Given the description of an element on the screen output the (x, y) to click on. 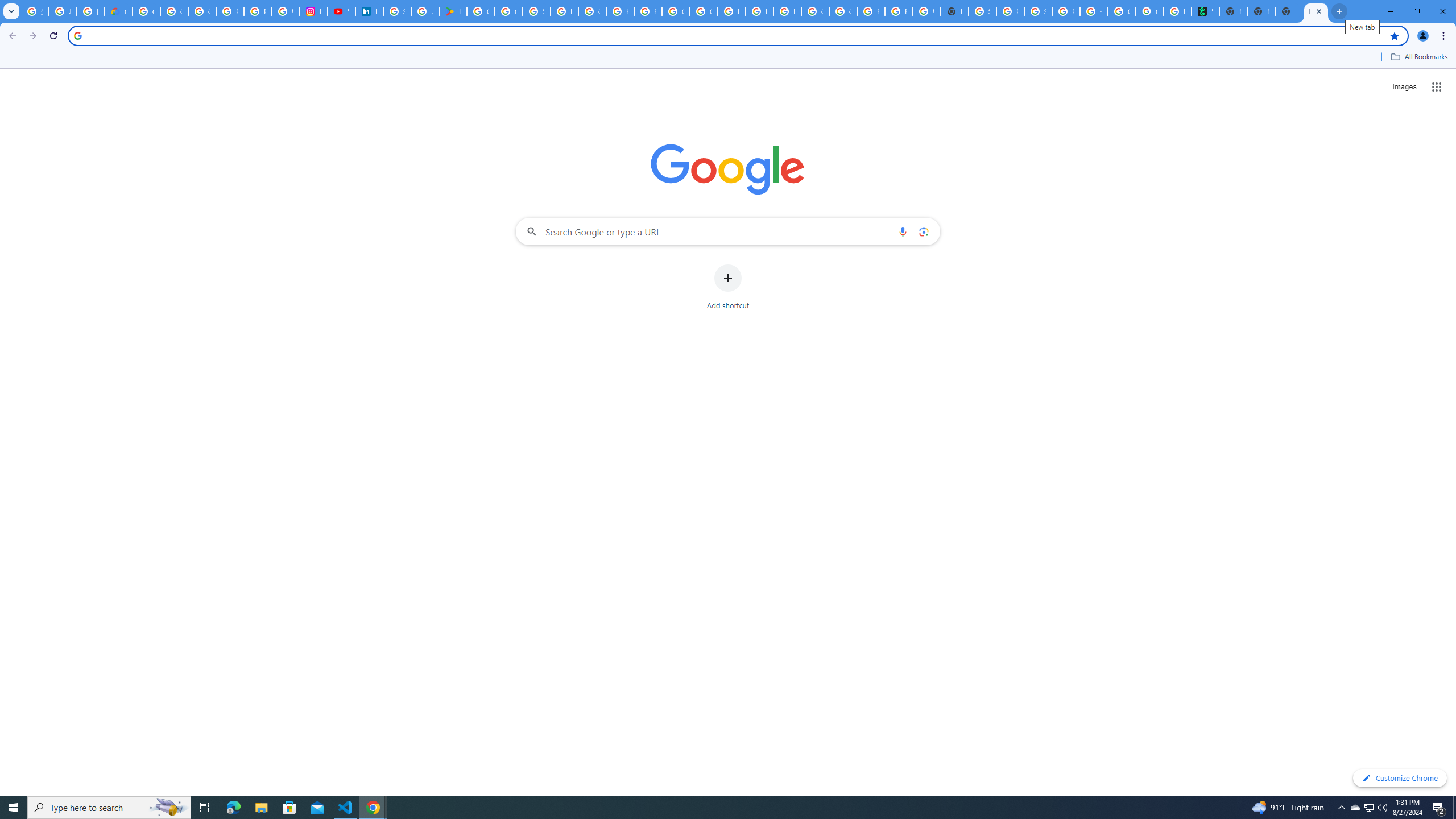
Search Google or type a URL (727, 230)
Google Cloud Platform (842, 11)
Search by image (922, 230)
Sign in - Google Accounts (982, 11)
Sign in - Google Accounts (536, 11)
Google Cloud Platform (815, 11)
Search icon (77, 35)
